Given the description of an element on the screen output the (x, y) to click on. 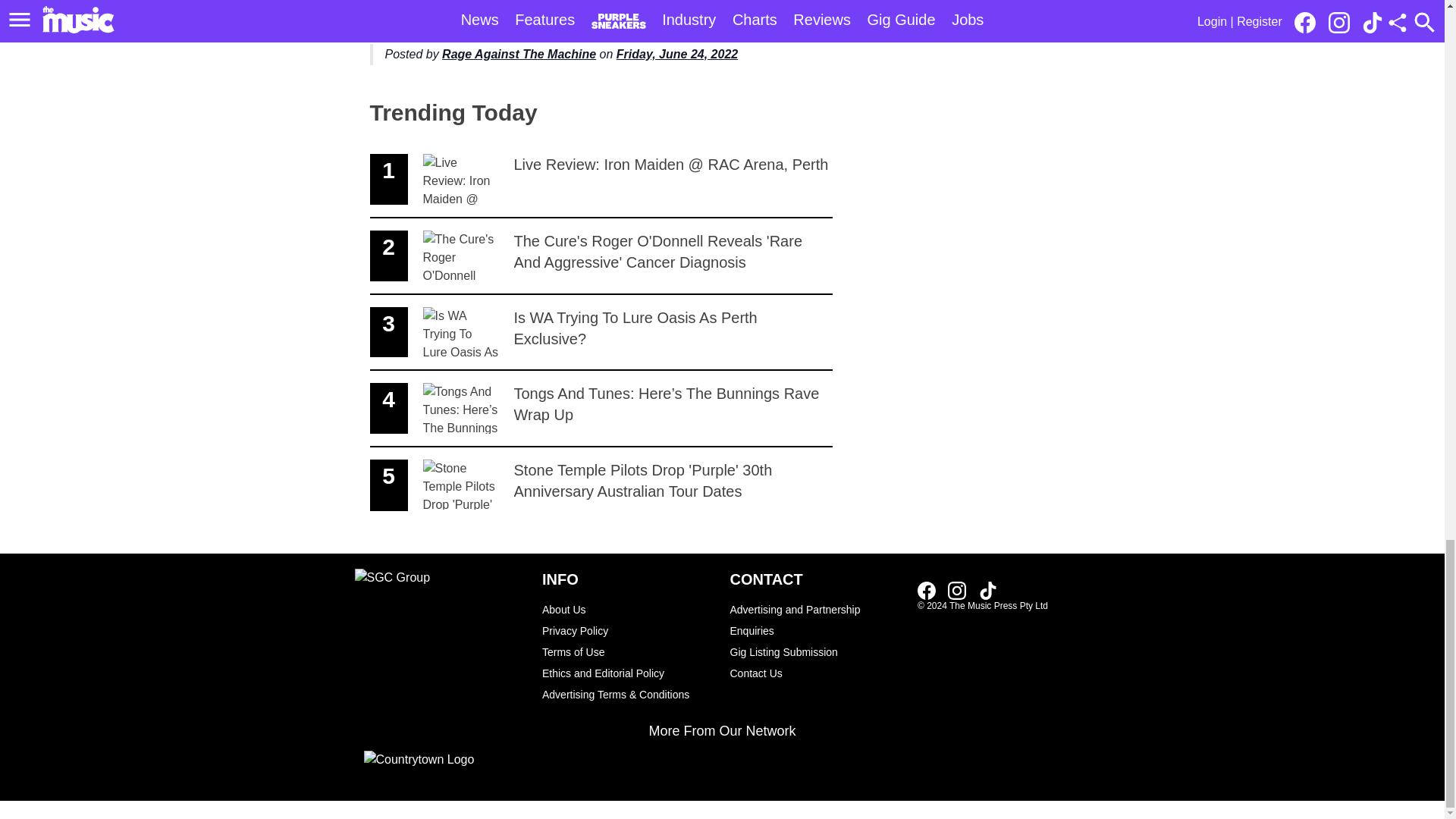
Friday, June 24, 2022 (676, 53)
Link to our Facebook (926, 590)
Link to our TikTok (987, 590)
Link to our Instagram (600, 332)
Privacy Policy (956, 590)
Rage Against The Machine (627, 630)
About Us (518, 53)
